Given the description of an element on the screen output the (x, y) to click on. 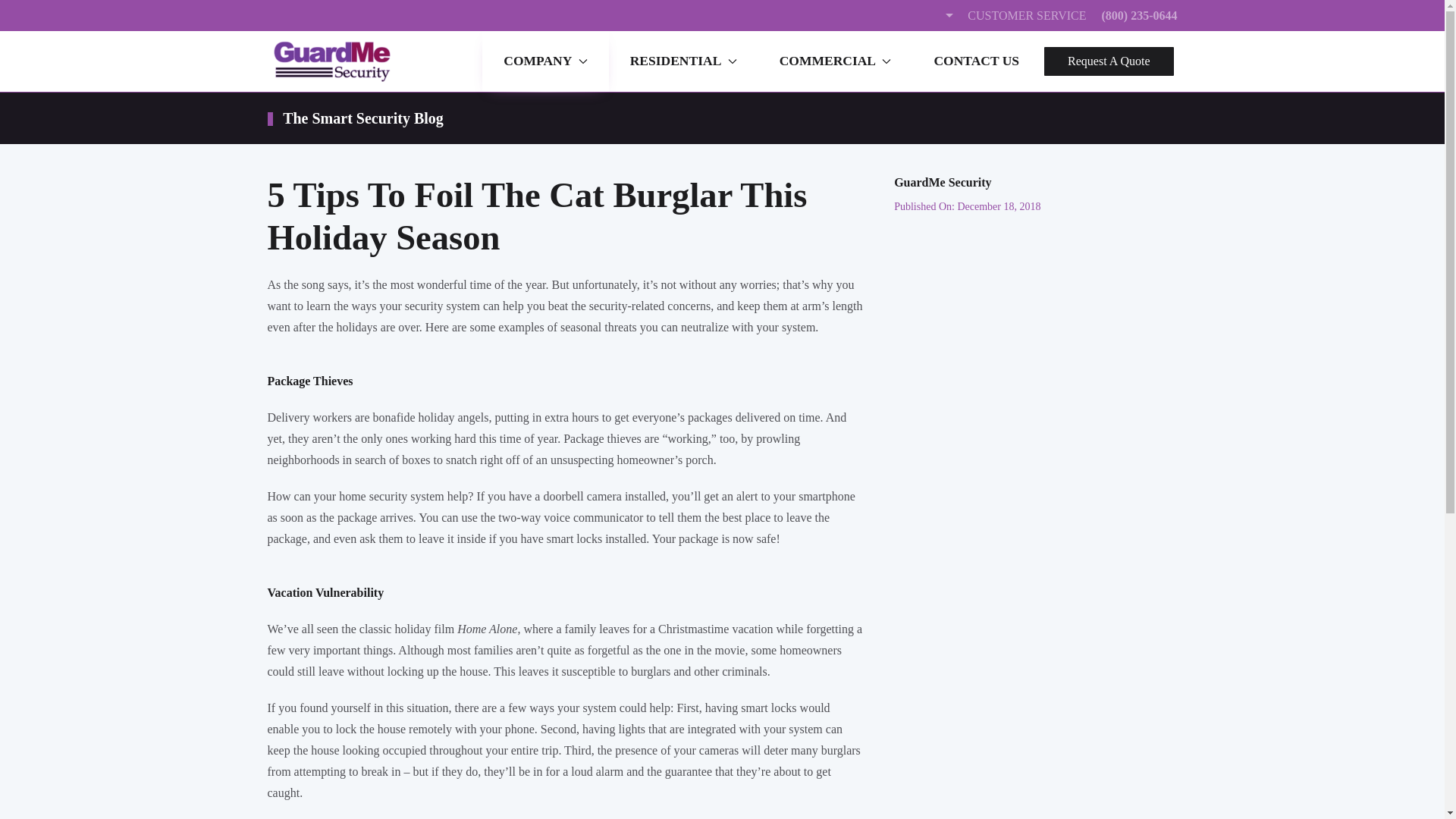
COMMERCIAL (835, 61)
CUSTOMER SERVICE (1014, 14)
COMPANY (544, 61)
RESIDENTIAL (683, 61)
